Given the description of an element on the screen output the (x, y) to click on. 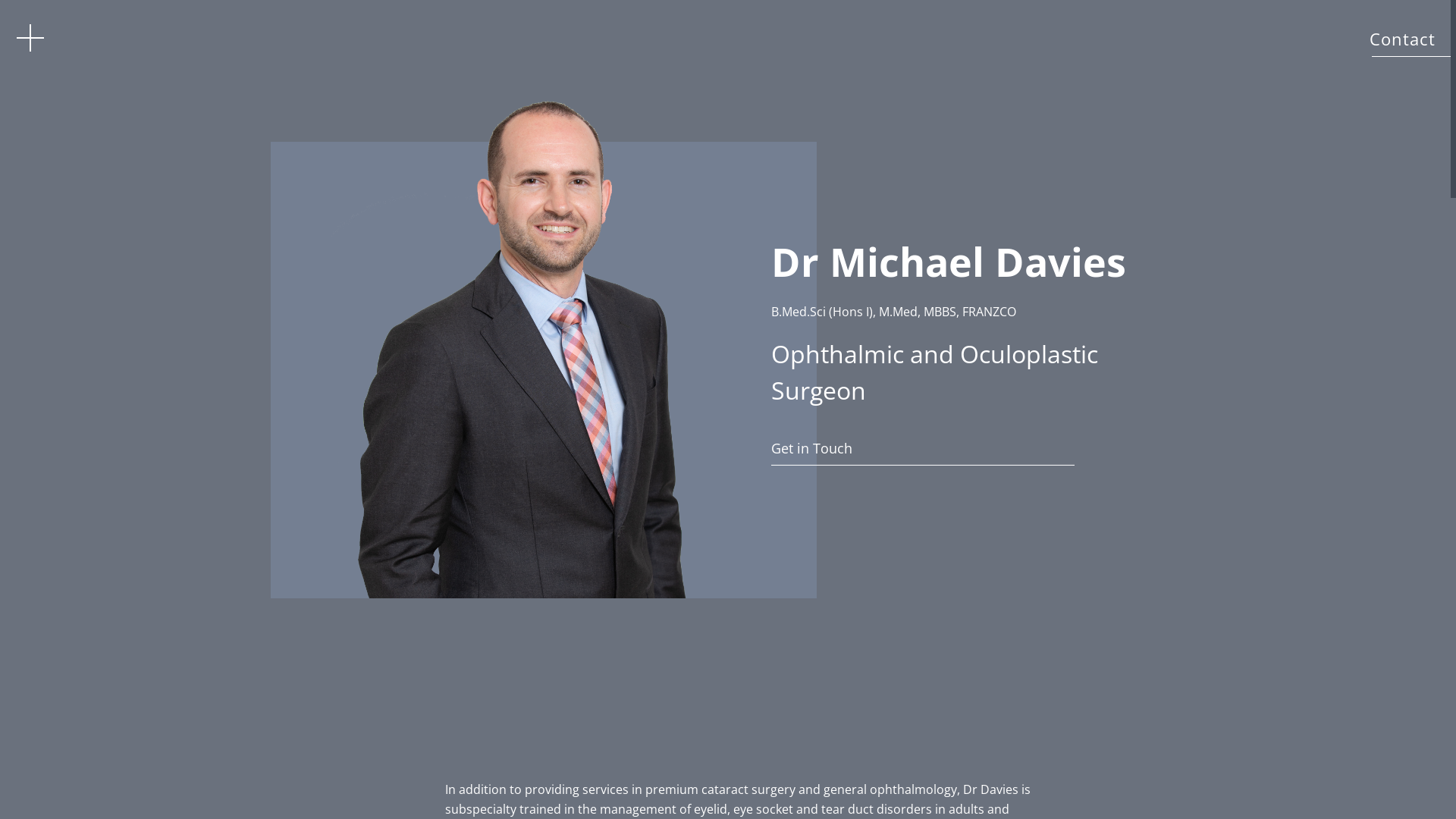
Get in Touch Element type: text (952, 447)
Contact Element type: text (1402, 38)
